Given the description of an element on the screen output the (x, y) to click on. 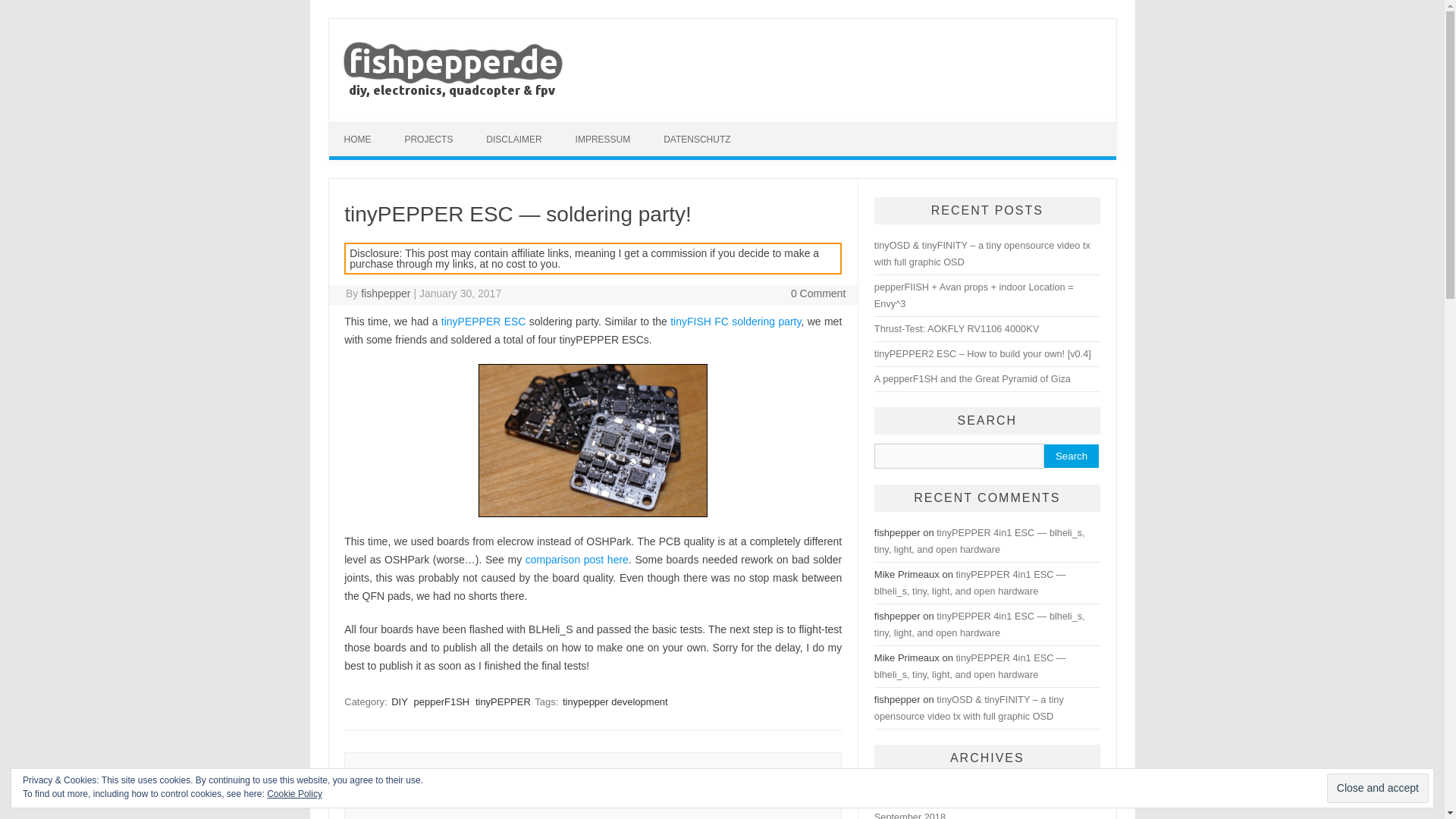
DIY (399, 701)
tinypepper development (614, 701)
HOME (358, 139)
Posts by fishpepper (385, 293)
Search (1070, 455)
pepperF1SH (441, 701)
comparison post here (576, 559)
Thrust-Test: AOKFLY RV1106 4000KV (957, 328)
fishpepper (385, 293)
tinyPEPPER ESC (483, 321)
